Given the description of an element on the screen output the (x, y) to click on. 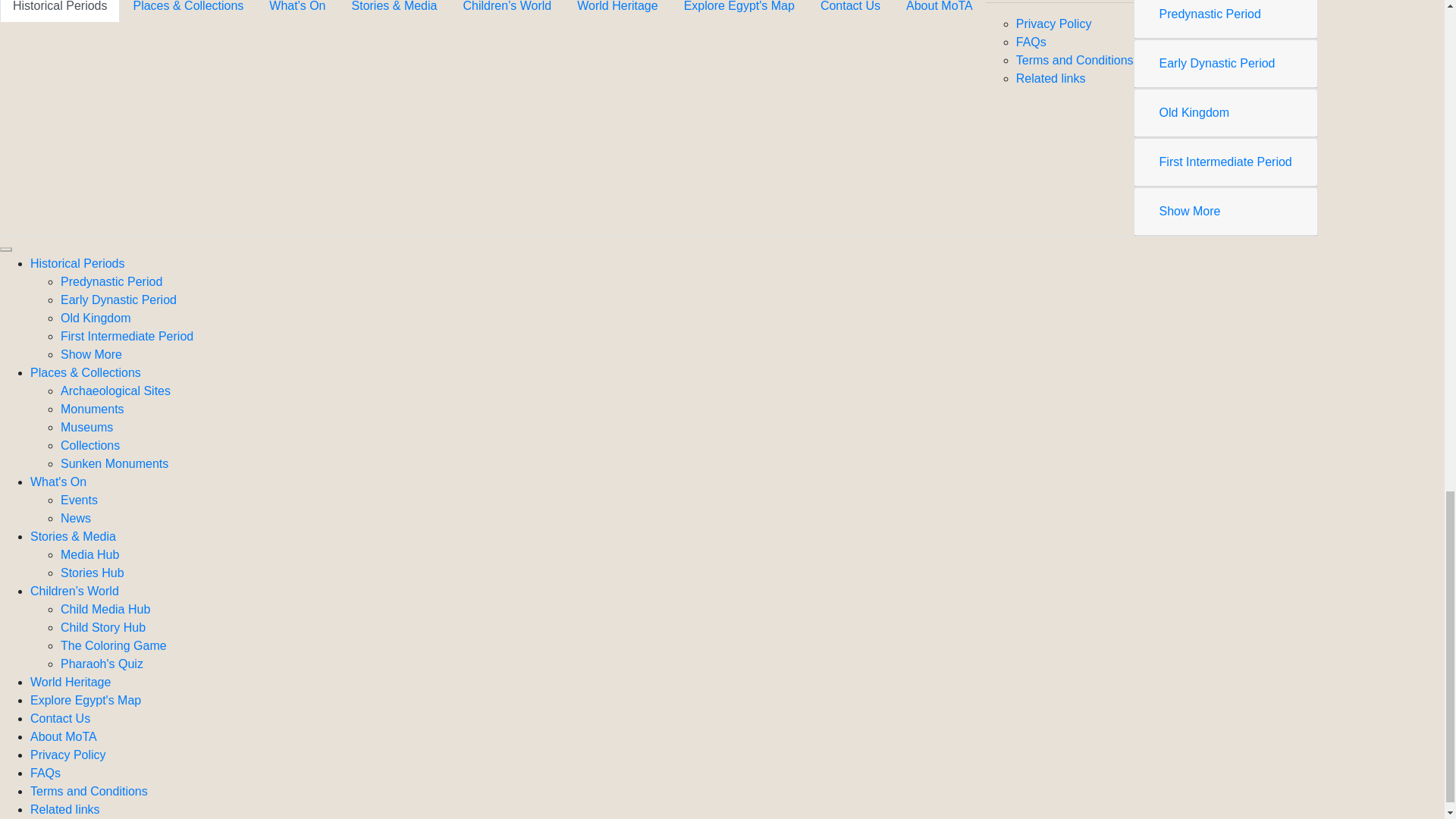
Related links (1051, 78)
Old Kingdom (1194, 112)
Early Dynastic Period (1216, 62)
First Intermediate Period (1225, 161)
World Heritage (616, 11)
World Heritage (616, 11)
Explore Egypt's Map (739, 11)
Explore Egypt's Map (739, 11)
Show More (1189, 210)
About MoTA (939, 11)
